Given the description of an element on the screen output the (x, y) to click on. 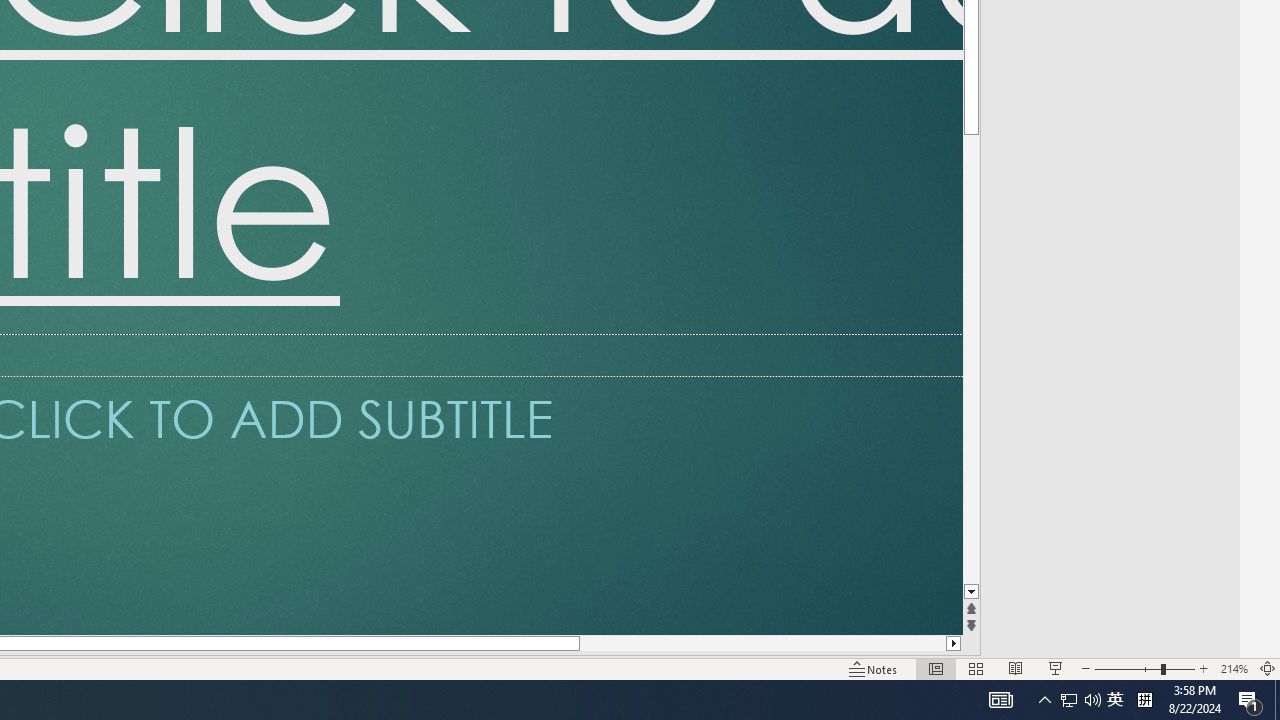
Zoom 214% (1234, 668)
